Given the description of an element on the screen output the (x, y) to click on. 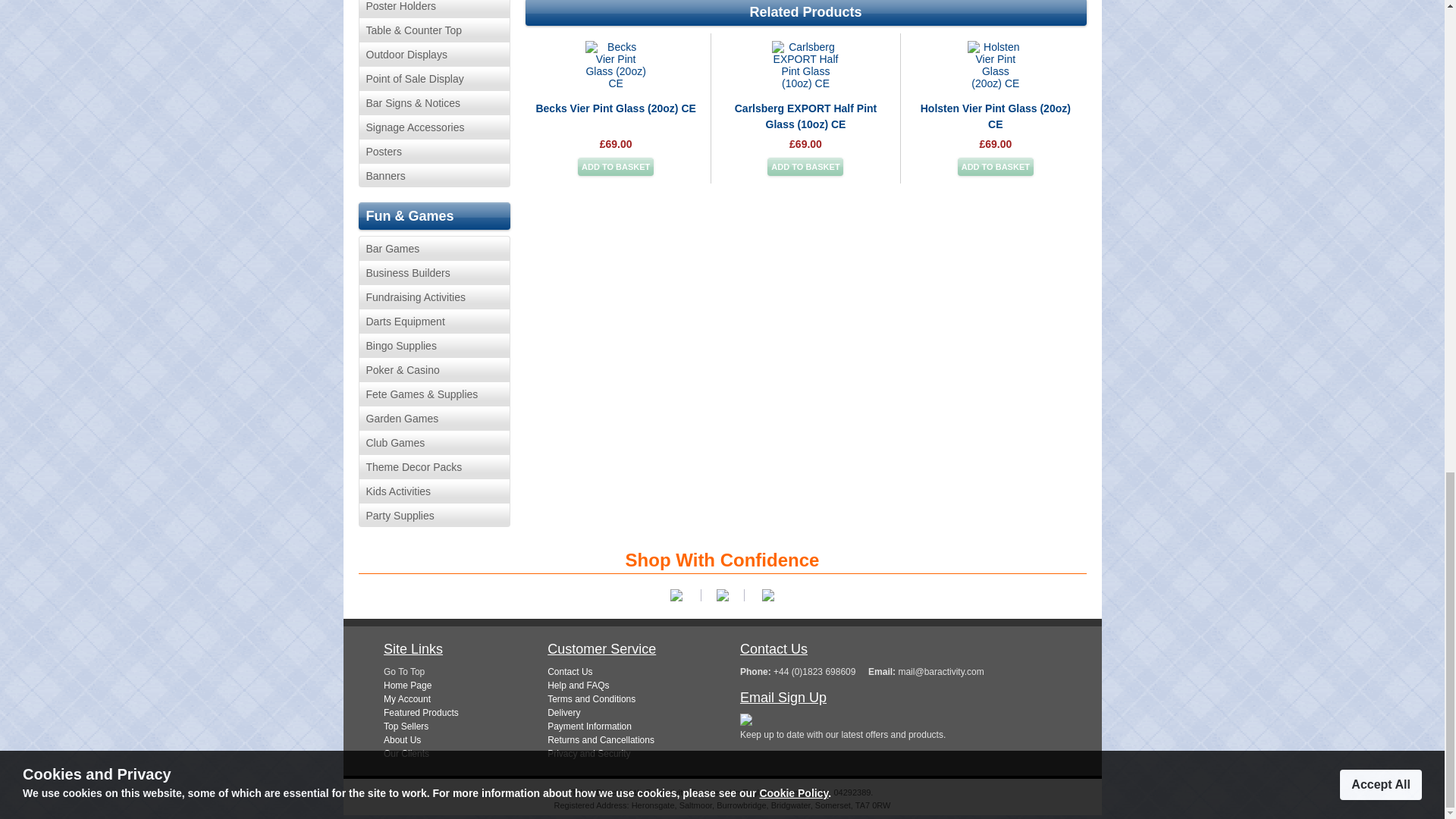
Bar Games (433, 247)
Posters (433, 150)
Signage Accessories (433, 126)
Banners (433, 174)
Point of Sale Display (433, 78)
Outdoor Displays (433, 53)
Poster Holders (433, 8)
